Given the description of an element on the screen output the (x, y) to click on. 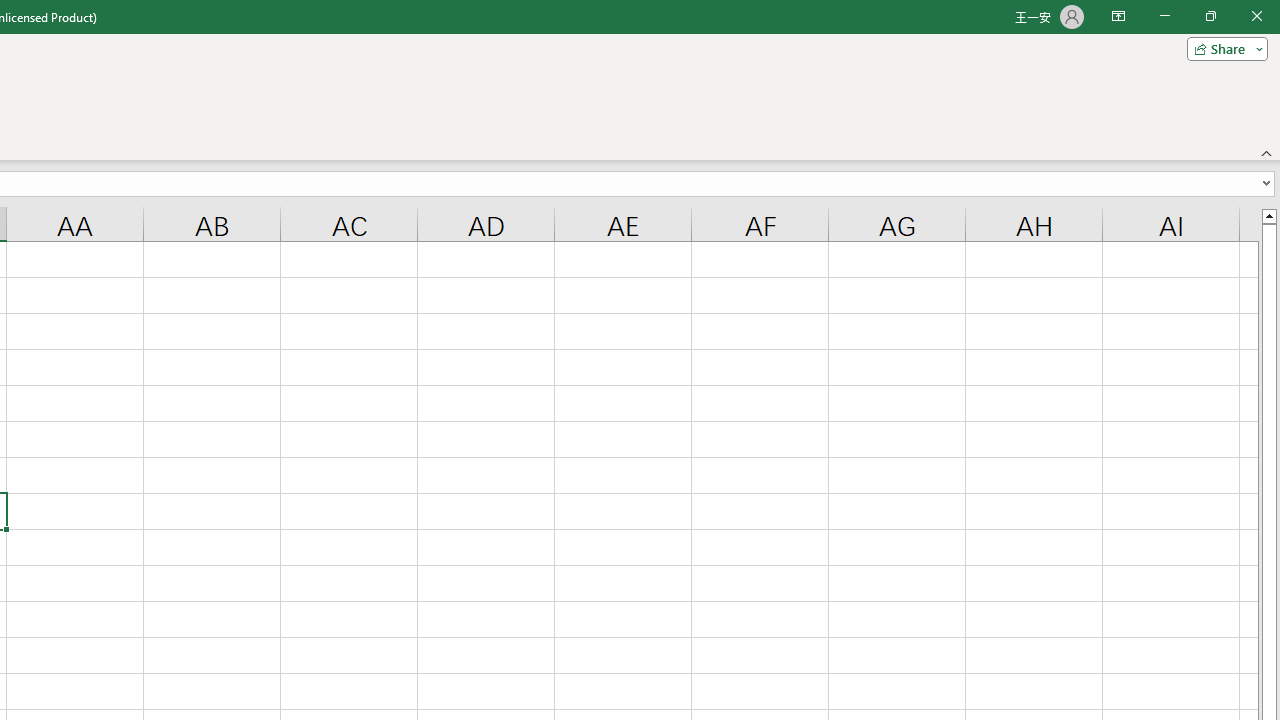
Ribbon Display Options (1118, 16)
Close (1256, 16)
Collapse the Ribbon (1267, 152)
Line up (1268, 215)
Restore Down (1210, 16)
Minimize (1164, 16)
Share (1223, 48)
